Given the description of an element on the screen output the (x, y) to click on. 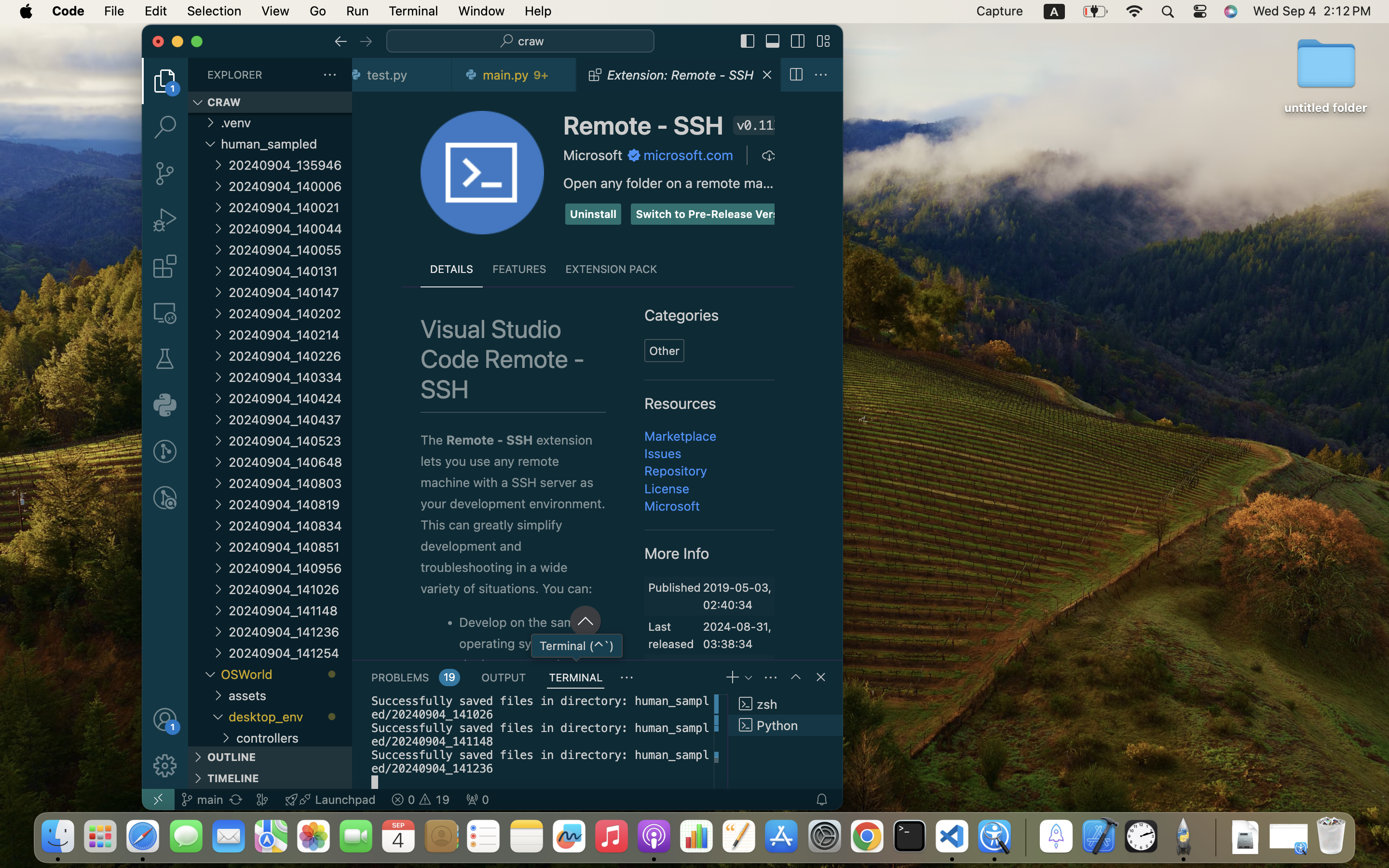
 Element type: AXStaticText (634, 154)
License Element type: AXStaticText (666, 488)
0 main.py   9+ Element type: AXRadioButton (514, 74)
assets Element type: AXGroup (290, 694)
 Element type: AXButton (365, 41)
